Given the description of an element on the screen output the (x, y) to click on. 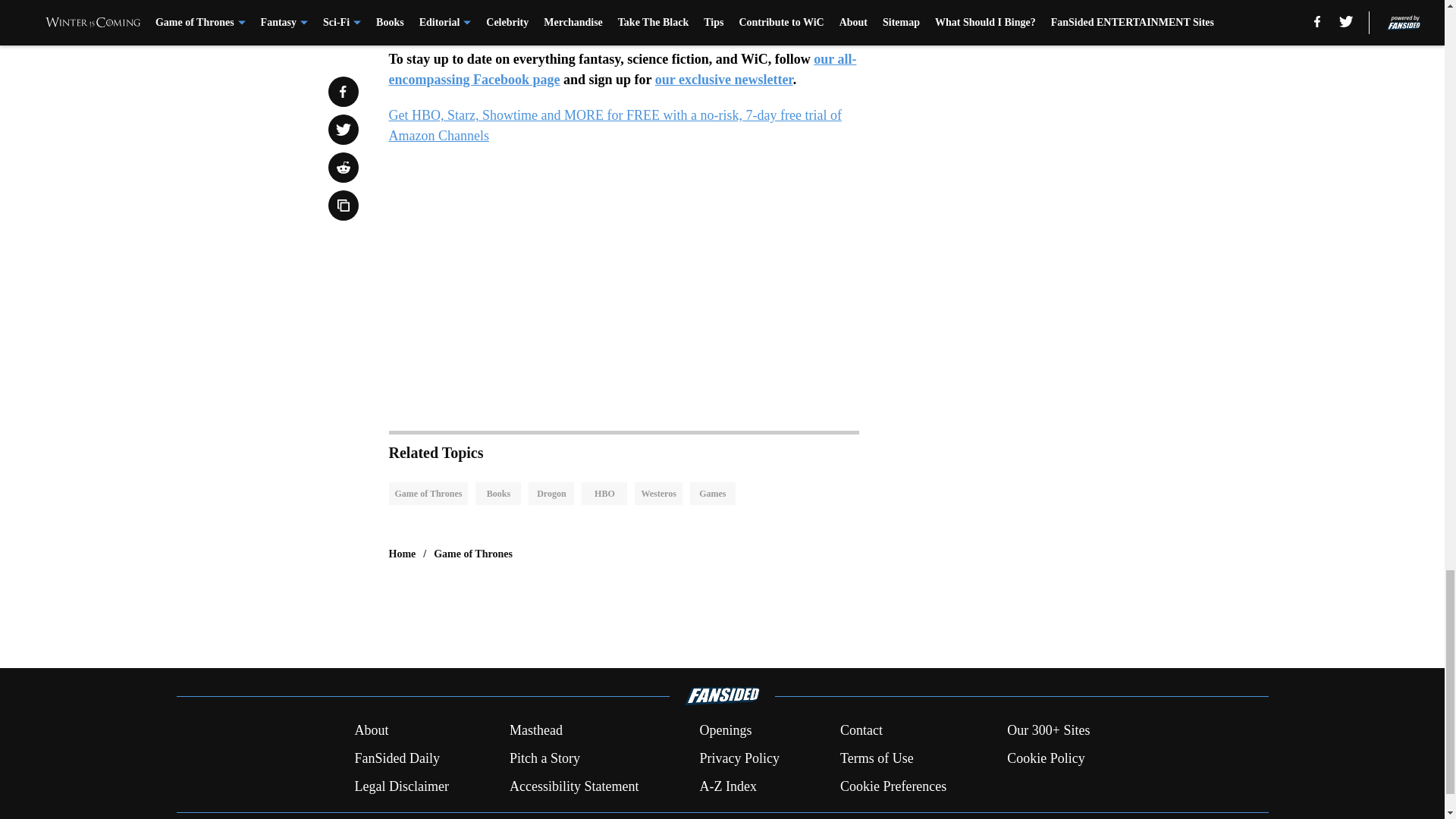
YouTube video player (622, 280)
